Given the description of an element on the screen output the (x, y) to click on. 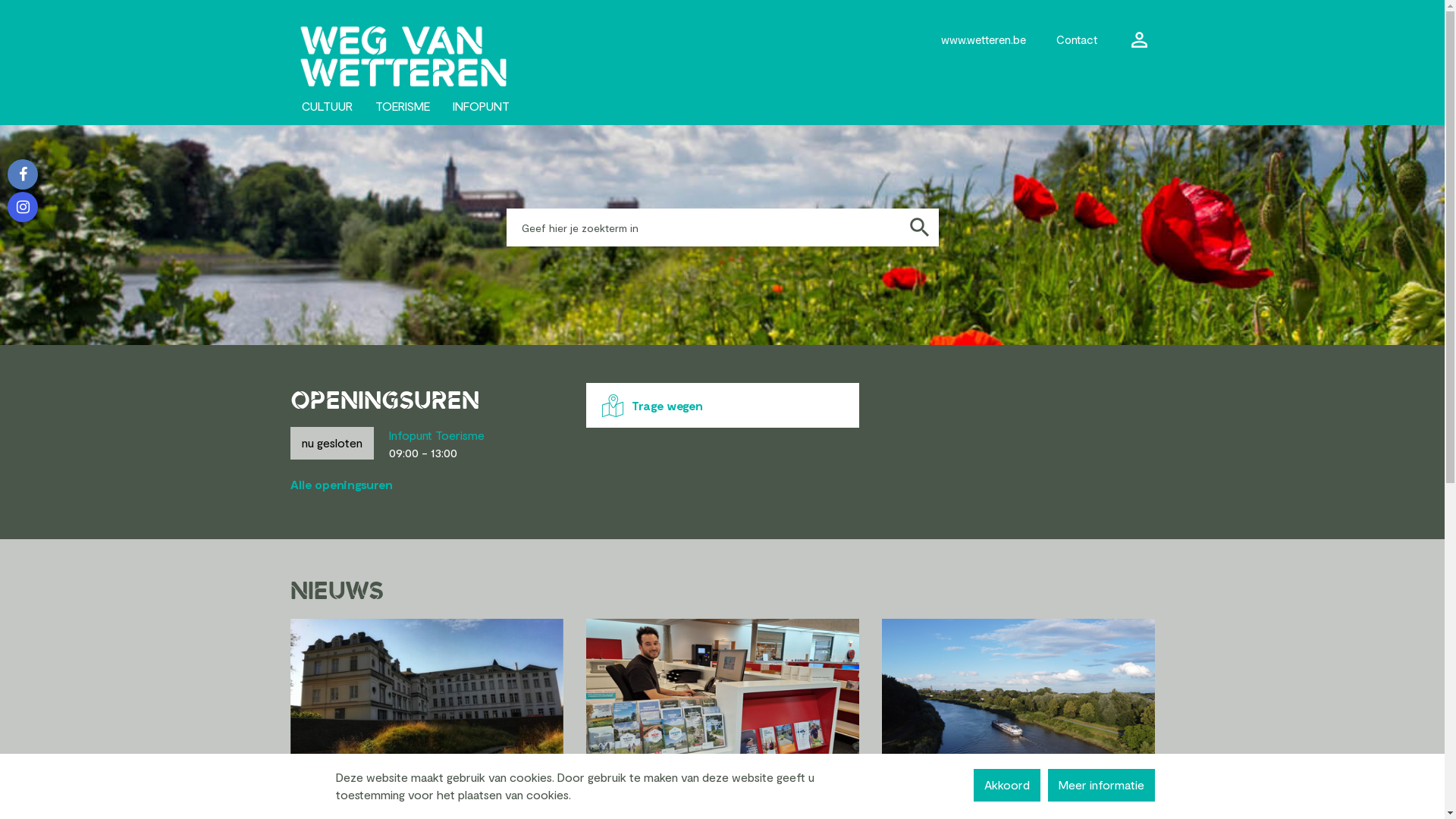
INFOPUNT Element type: text (480, 106)
Infopunt Toerisme Element type: text (435, 434)
Alle openingsuren Element type: text (340, 484)
Meer informatie Element type: text (1101, 784)
Ga naar de startpagina Element type: hover (420, 43)
Akkoord Element type: text (1006, 784)
TOERISME Element type: text (402, 106)
Contact Element type: text (1076, 39)
CULTUUR Element type: text (326, 106)
Trage wegen Element type: text (721, 404)
www.wetteren.be Element type: text (983, 39)
facebook Element type: text (22, 174)
instagram Element type: text (22, 206)
nu gesloten Element type: text (331, 442)
